Given the description of an element on the screen output the (x, y) to click on. 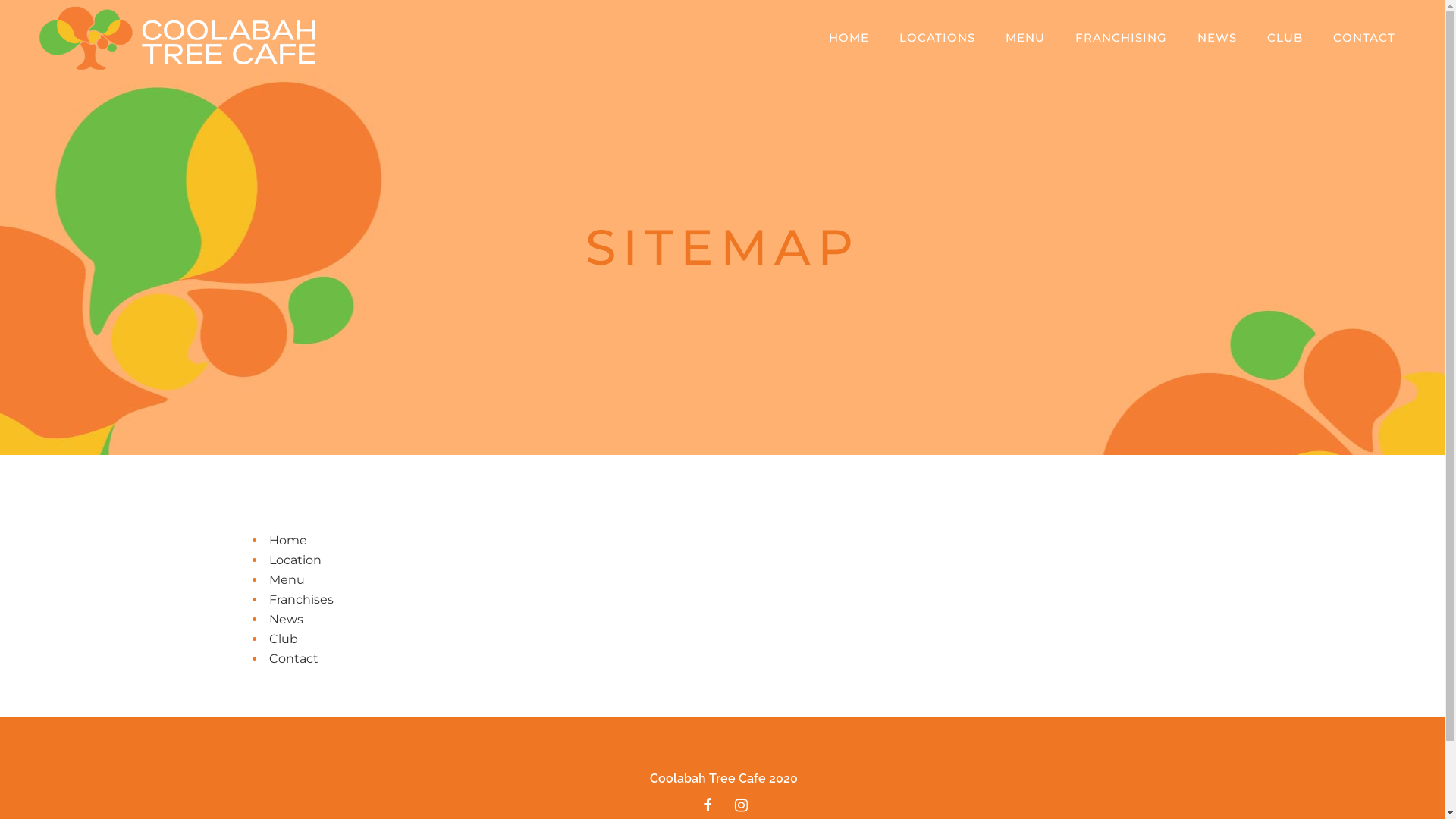
MENU Element type: text (1025, 37)
NEWS Element type: text (1217, 37)
Menu Element type: text (286, 579)
CLUB Element type: text (1284, 37)
Franchises Element type: text (300, 599)
LOCATIONS Element type: text (937, 37)
Home Element type: text (287, 540)
HOME Element type: text (848, 37)
FRANCHISING Element type: text (1121, 37)
CONTACT Element type: text (1363, 37)
Contact Element type: text (292, 658)
Location Element type: text (294, 559)
Club Element type: text (282, 638)
News Element type: text (285, 618)
